Given the description of an element on the screen output the (x, y) to click on. 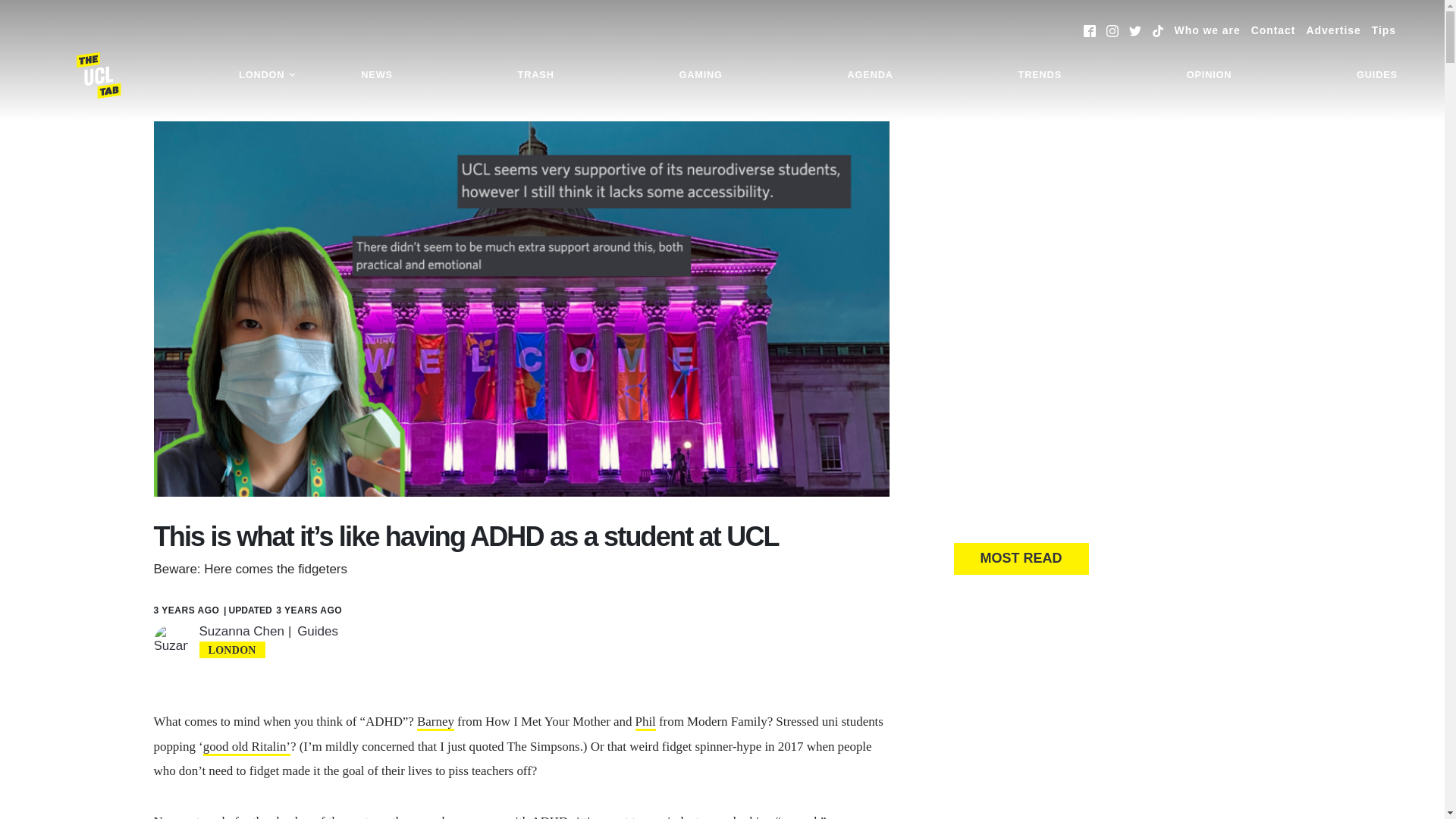
GUIDES (1377, 75)
LONDON (267, 75)
Tips (1383, 29)
OPINION (1208, 75)
NEWS (376, 75)
GAMING (699, 75)
TRASH (536, 75)
AGENDA (869, 75)
Contact (1272, 29)
Who we are (1207, 29)
TRENDS (1040, 75)
Advertise (1332, 29)
